Given the description of an element on the screen output the (x, y) to click on. 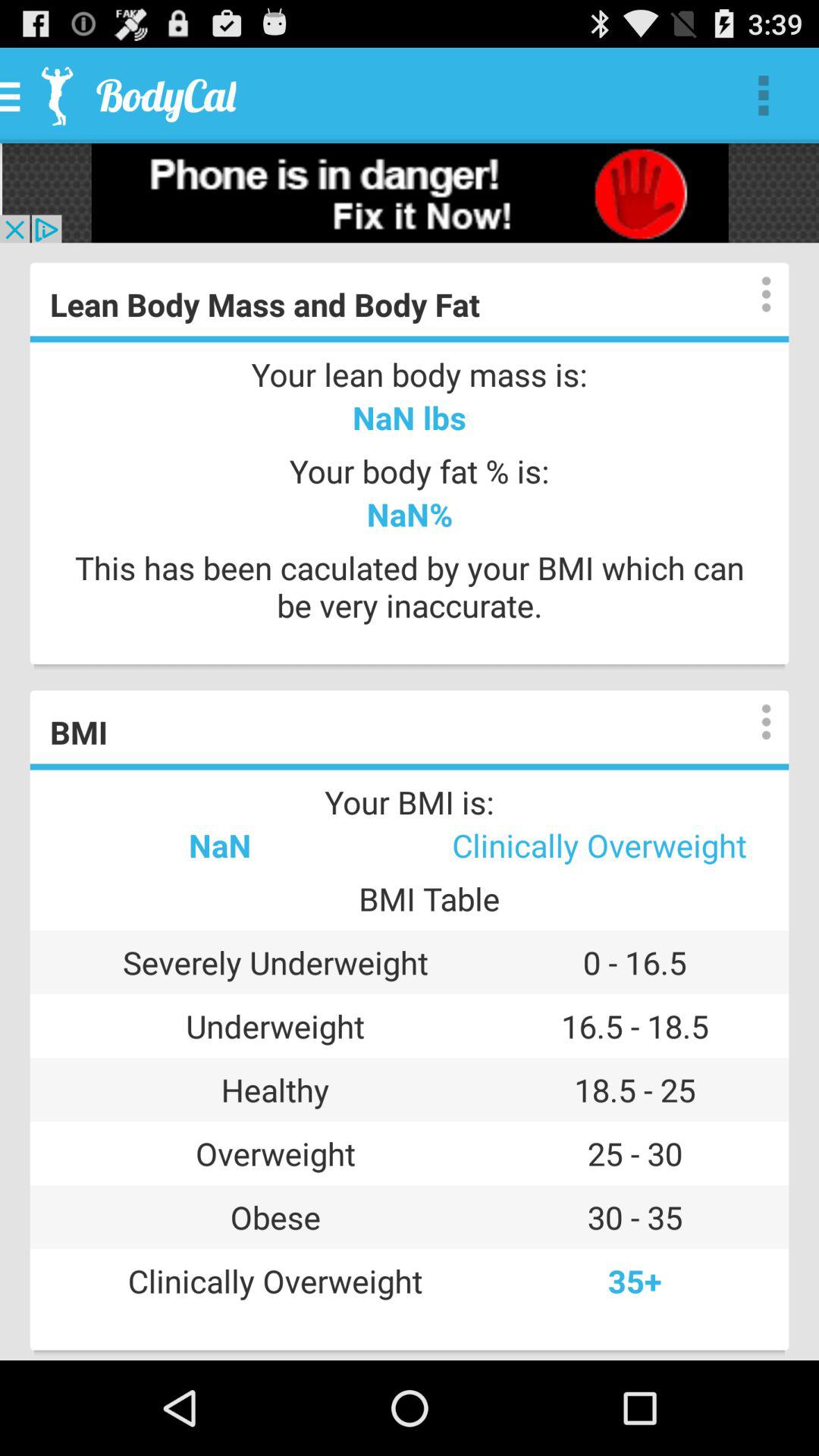
view advertisement (409, 192)
